Given the description of an element on the screen output the (x, y) to click on. 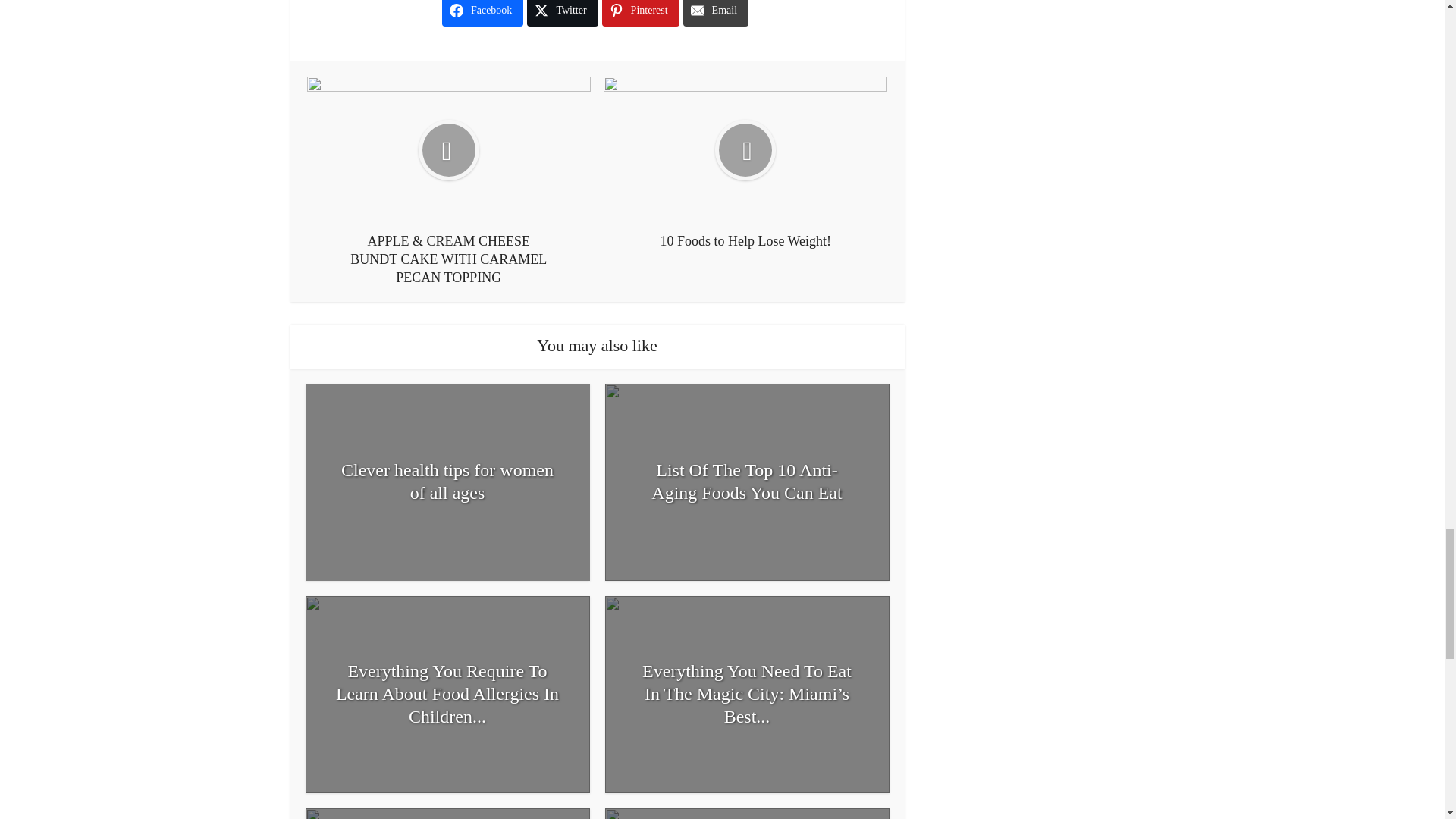
Pinterest (640, 13)
Share on Pinterest (640, 13)
Twitter (561, 13)
Share on Email (715, 13)
10 Foods to Help Lose Weight! (745, 162)
List Of The Top 10 Anti-Aging Foods You Can Eat (747, 481)
Email (715, 13)
Share on Facebook (482, 13)
Clever health tips for women of all ages (446, 481)
